Given the description of an element on the screen output the (x, y) to click on. 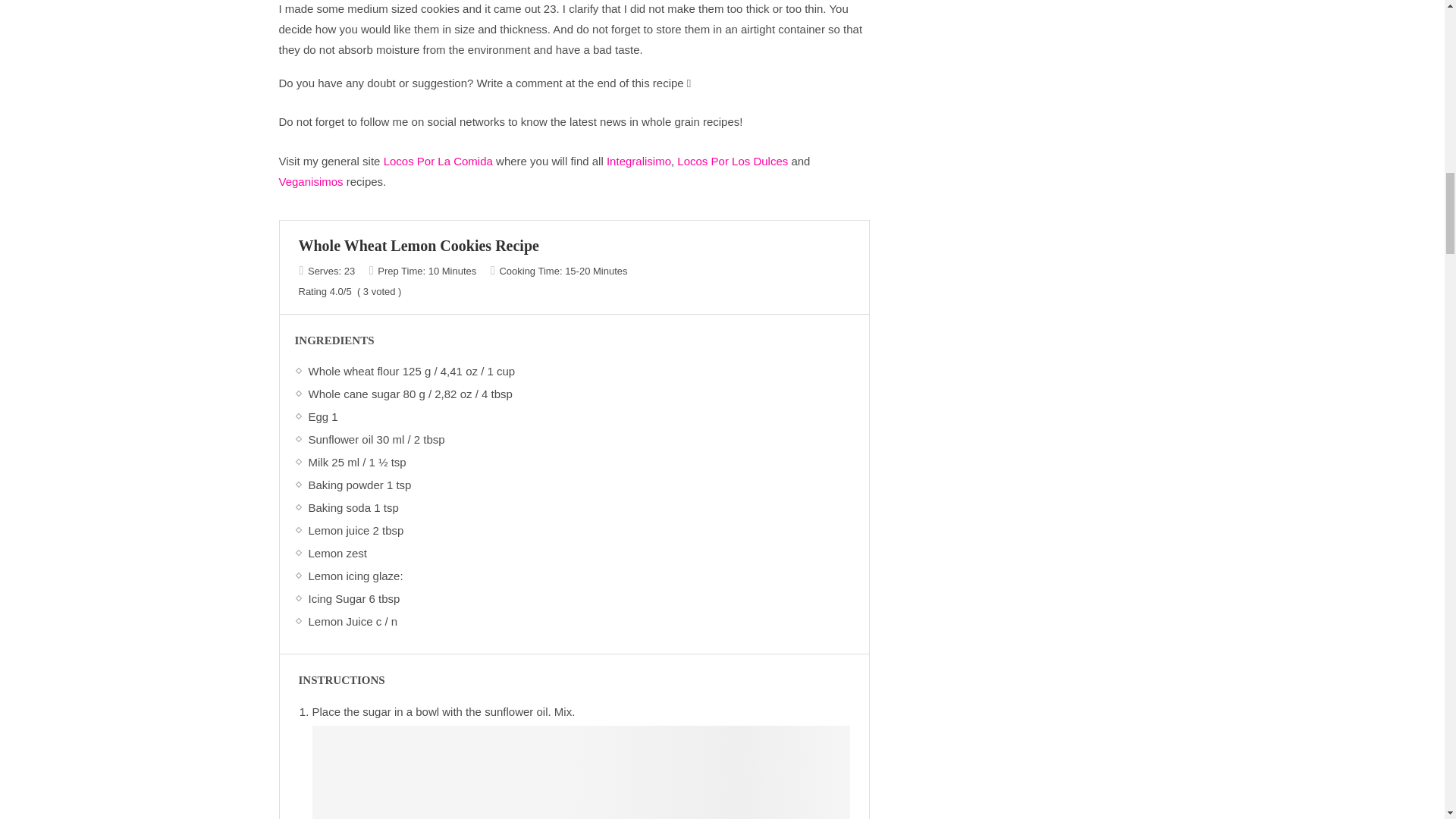
Veganisimos (311, 181)
Integralisimo (639, 160)
Locos Por Los Dulces (732, 160)
Locos Por La Comida (438, 160)
